Given the description of an element on the screen output the (x, y) to click on. 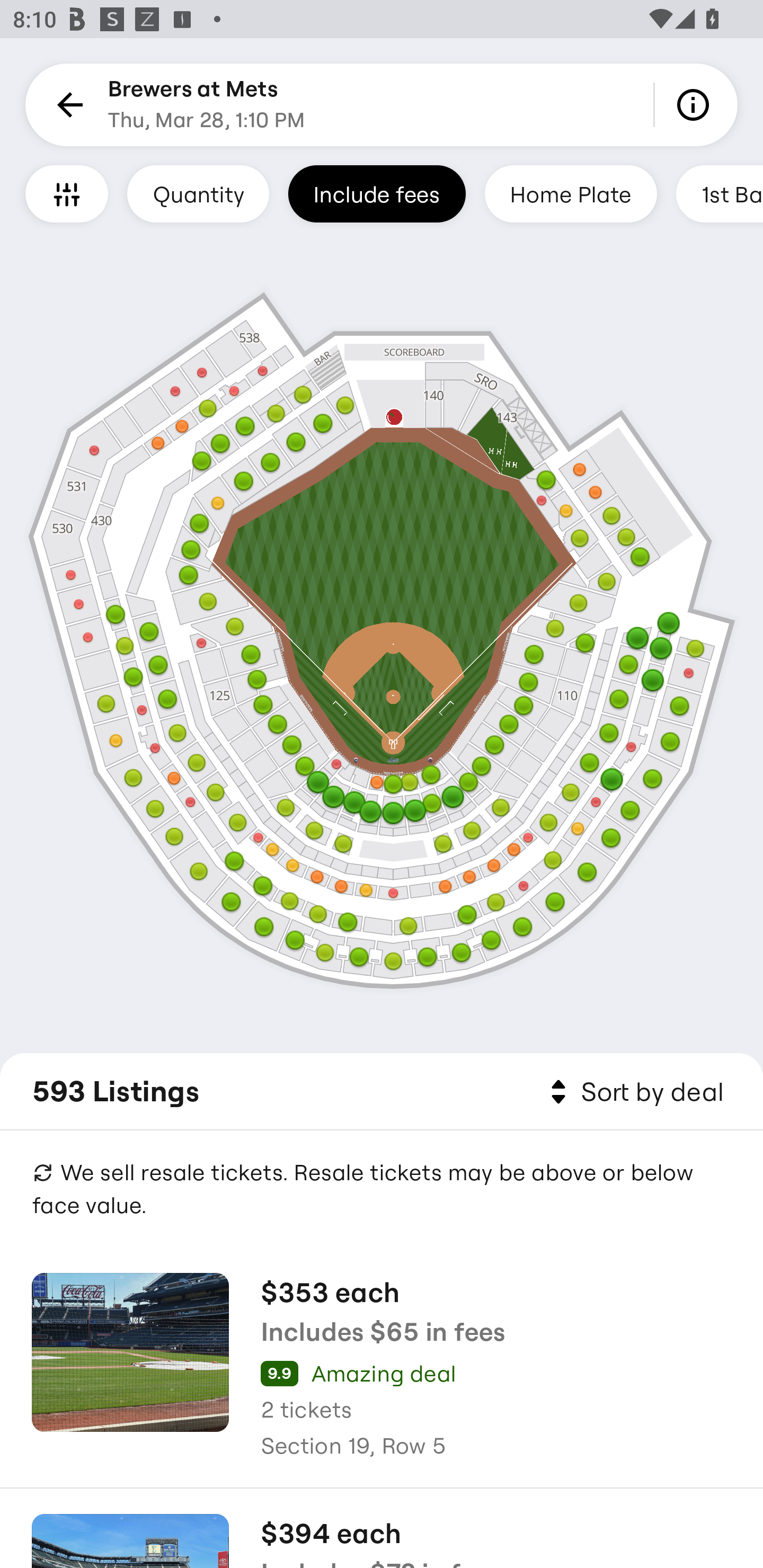
Back (66, 104)
Brewers at Mets Thu, Mar 28, 1:10 PM (206, 104)
Info (695, 104)
Filters and Accessible Seating (66, 193)
Quantity (198, 193)
Include fees (376, 193)
Home Plate (570, 193)
Sort by deal (633, 1091)
